Given the description of an element on the screen output the (x, y) to click on. 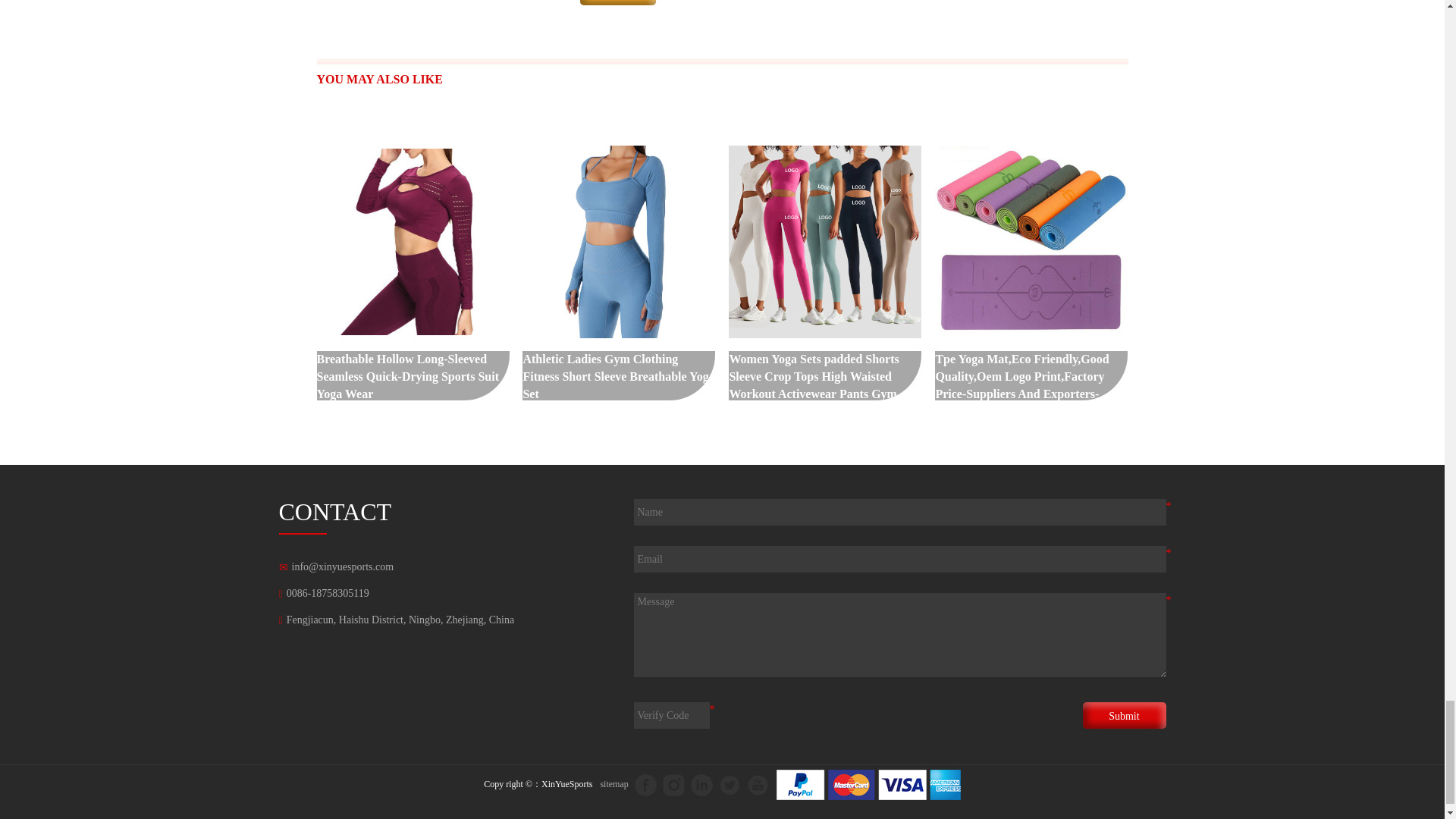
Facebook (645, 784)
Submit (1124, 714)
Twitter (730, 784)
submit (617, 2)
Instagram (673, 784)
Linkedin (701, 784)
